Given the description of an element on the screen output the (x, y) to click on. 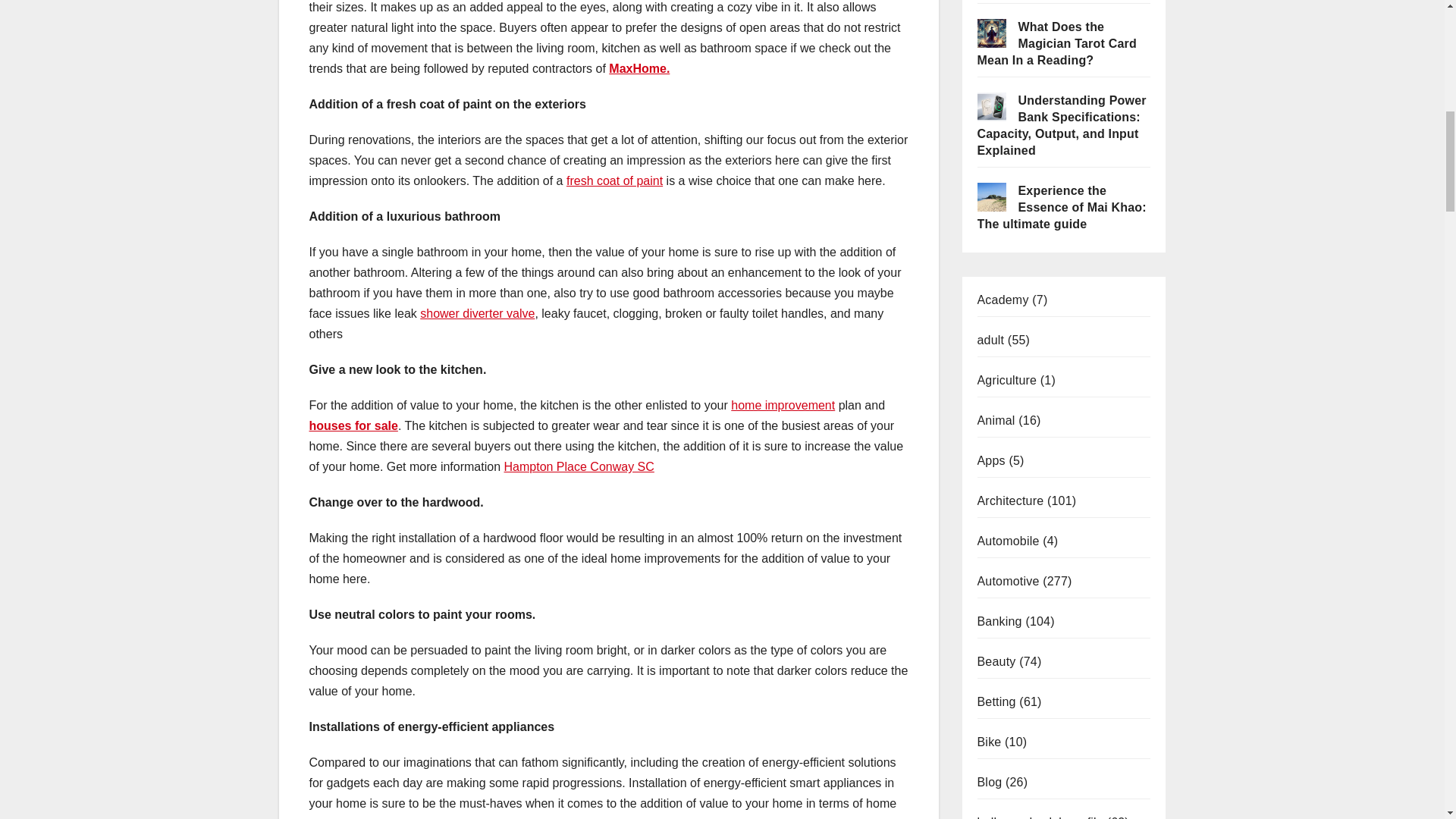
MaxHome. (638, 68)
houses for sale (352, 425)
home improvement (782, 404)
Hampton Place Conway SC (578, 466)
shower diverter valve (477, 313)
fresh coat of paint (614, 180)
